Given the description of an element on the screen output the (x, y) to click on. 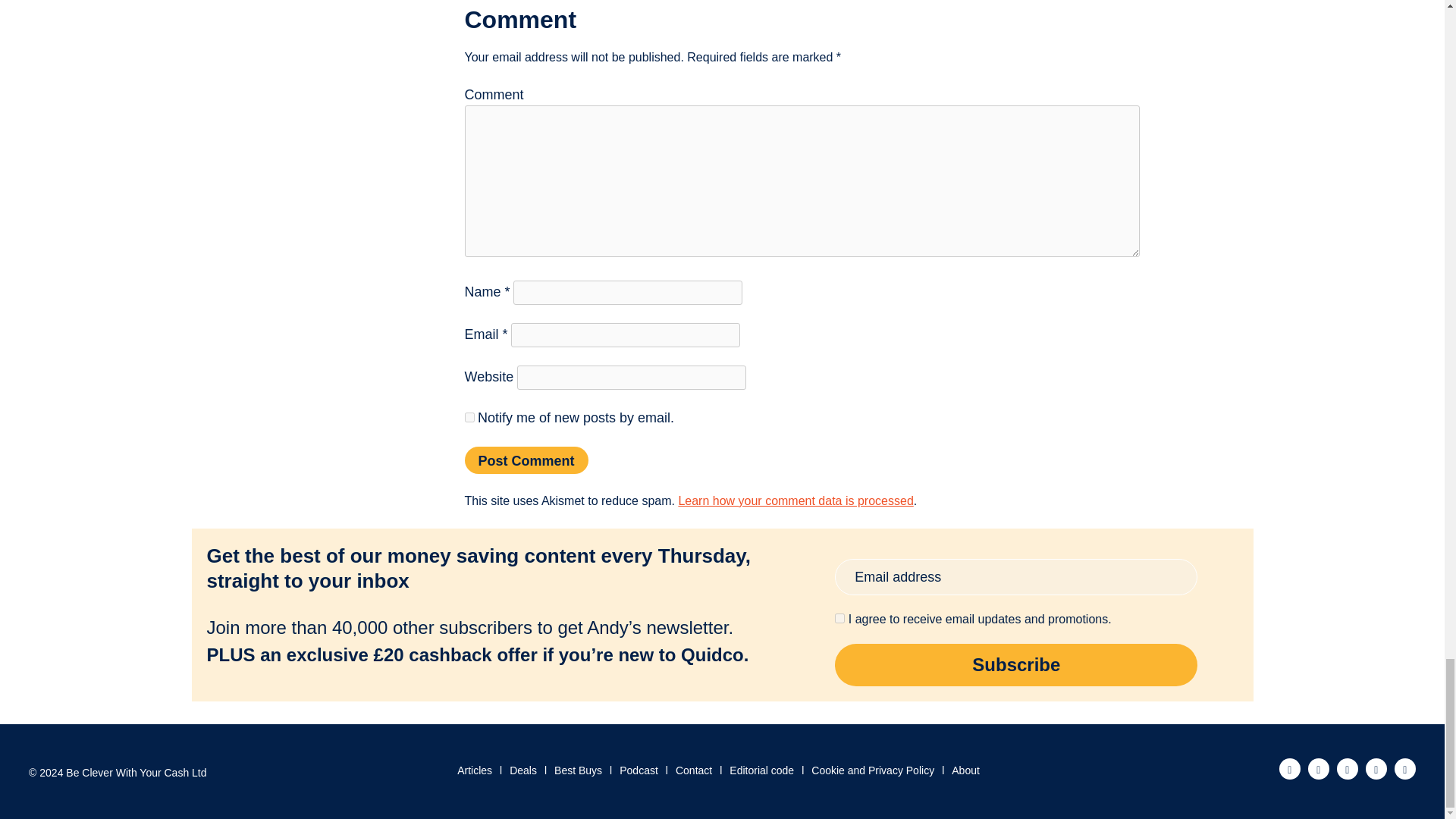
Post Comment (526, 460)
subscribe (469, 417)
on (839, 618)
Subscribe (1015, 664)
